Given the description of an element on the screen output the (x, y) to click on. 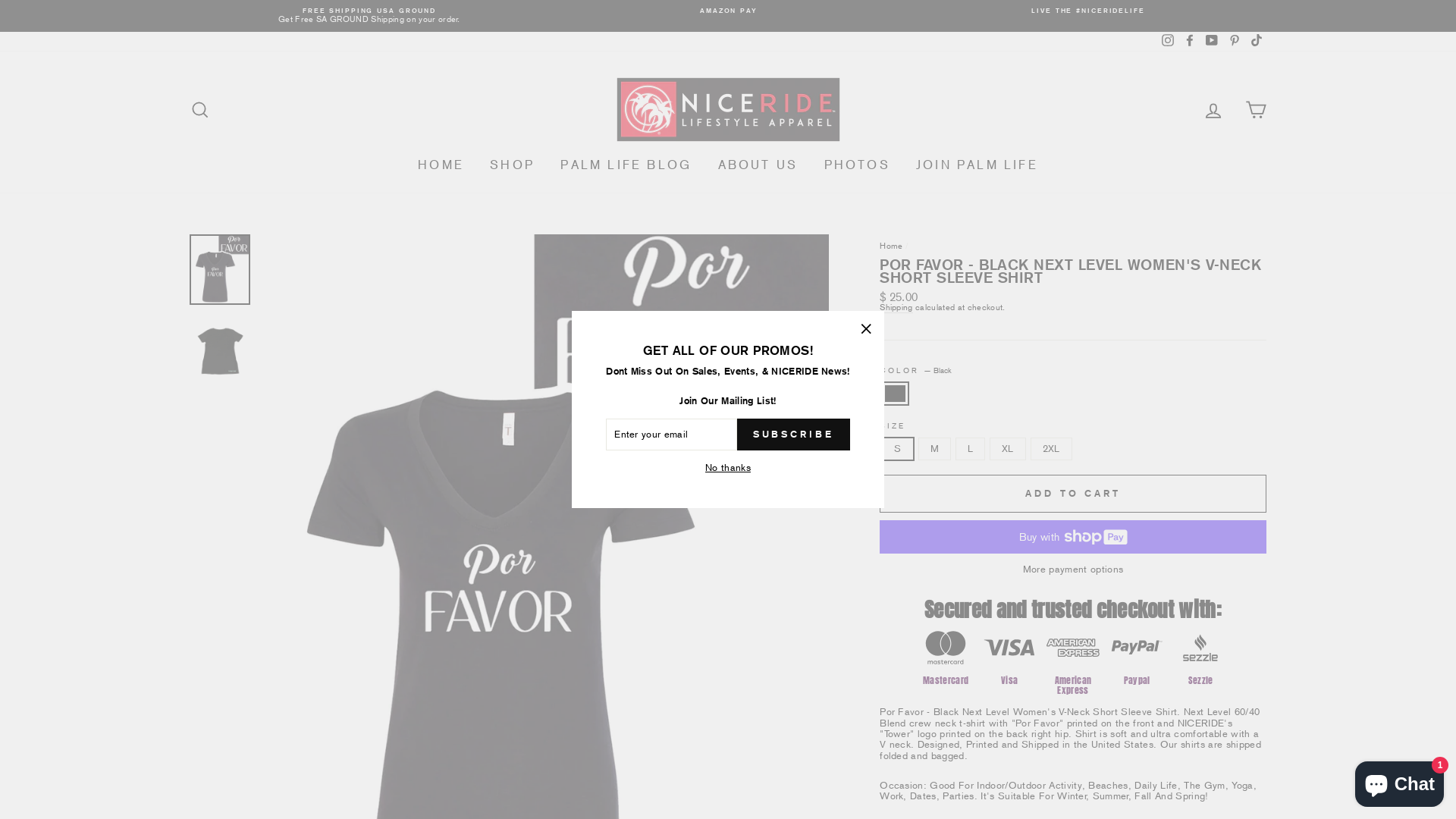
Pinterest Element type: text (1234, 41)
No thanks Element type: text (727, 467)
Shipping Element type: text (896, 308)
CART Element type: text (1255, 109)
SEARCH Element type: text (199, 109)
LOG IN Element type: text (1213, 109)
"Close (esc)" Element type: text (865, 328)
Skip to content Element type: text (0, 0)
More payment options Element type: text (1072, 569)
PALM LIFE BLOG Element type: text (625, 164)
Home Element type: text (890, 246)
ADD TO CART Element type: text (1072, 493)
Instagram Element type: text (1167, 41)
Shopify online store chat Element type: hover (1399, 780)
ABOUT US Element type: text (757, 164)
JOIN PALM LIFE Element type: text (976, 164)
SUBSCRIBE Element type: text (793, 434)
TikTok Element type: text (1256, 41)
PHOTOS Element type: text (856, 164)
SHOP Element type: text (512, 164)
HOME Element type: text (440, 164)
YouTube Element type: text (1211, 41)
Facebook Element type: text (1189, 41)
